Given the description of an element on the screen output the (x, y) to click on. 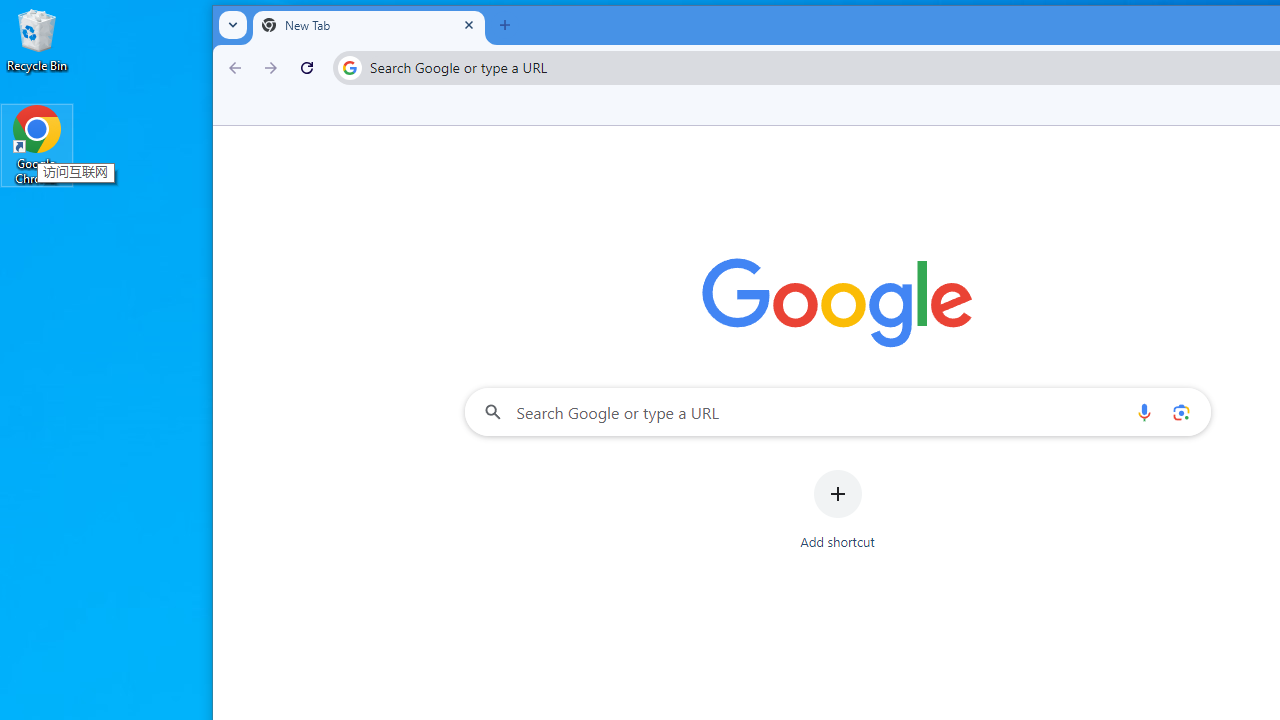
Google Chrome (37, 144)
Recycle Bin (37, 39)
